Given the description of an element on the screen output the (x, y) to click on. 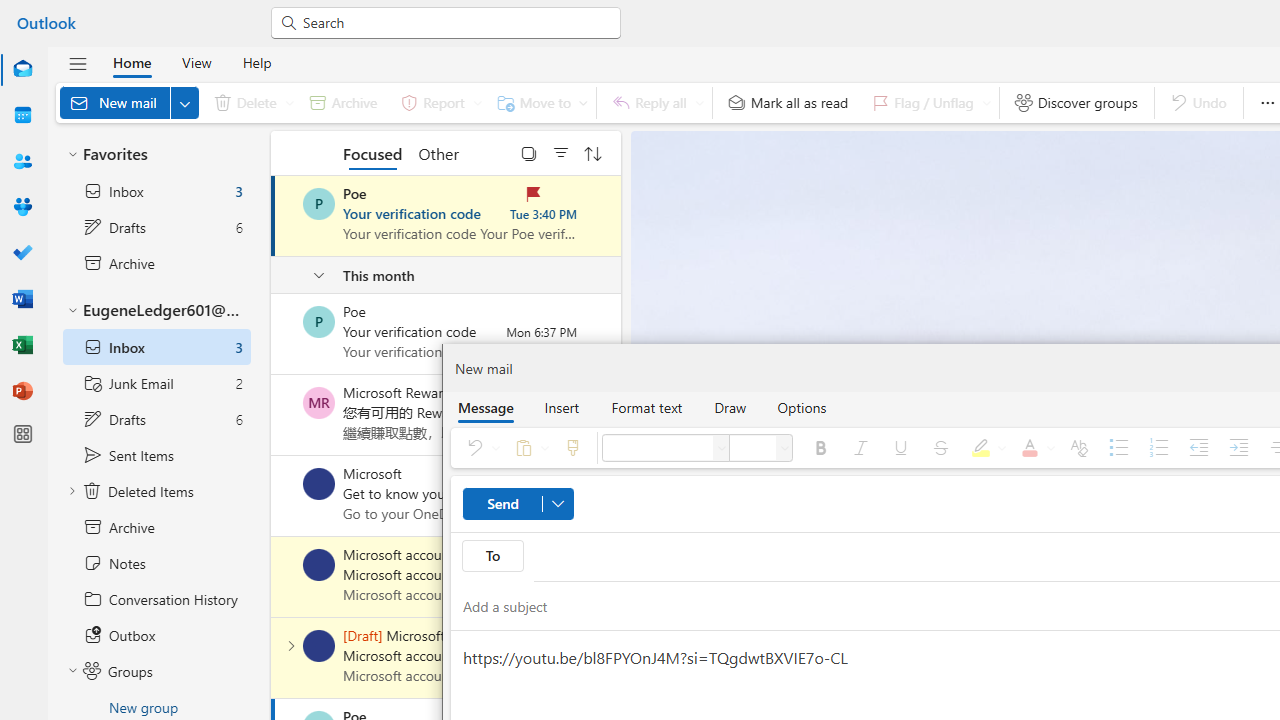
Format text (646, 407)
Poe (319, 321)
Microsoft (319, 483)
Sorted: By Date (593, 152)
Format painter (572, 447)
Calendar (22, 115)
Mark as read (273, 215)
Hide navigation pane (77, 63)
Delete (250, 102)
Word (22, 298)
Help (256, 61)
System (10, 11)
People (22, 161)
Excel (22, 344)
